Given the description of an element on the screen output the (x, y) to click on. 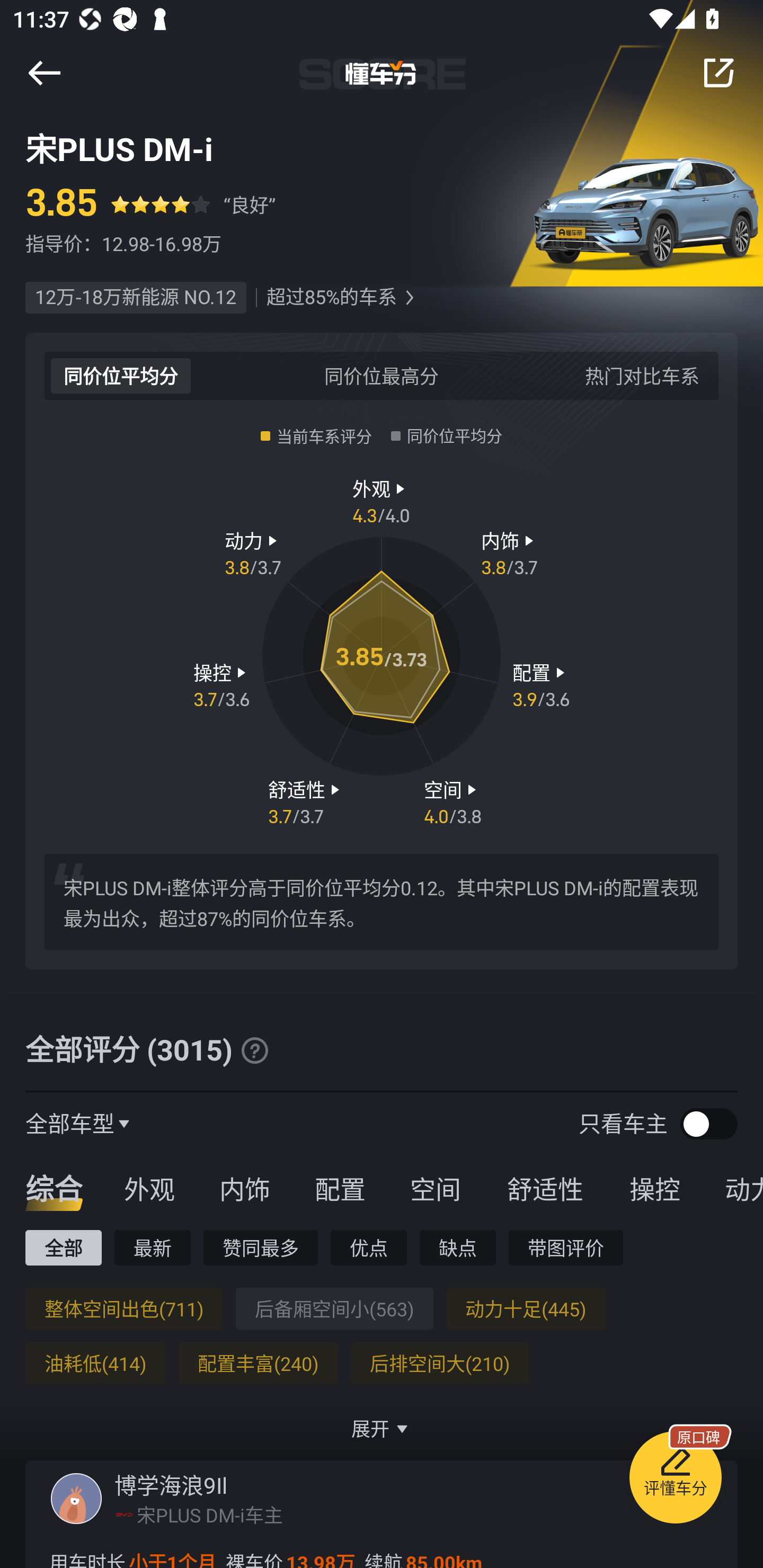
 (44, 72)
 (718, 72)
超过85%的车系 (331, 297)
 (408, 297)
同价位平均分 (120, 375)
同价位最高分 (381, 375)
热门对比车系 (641, 375)
外观  4.3 / 4.0 (381, 500)
动力  3.8 / 3.7 (252, 552)
内饰  3.8 / 3.7 (509, 552)
操控  3.7 / 3.6 (221, 685)
配置  3.9 / 3.6 (540, 685)
舒适性  3.7 / 3.7 (305, 801)
空间  4.0 / 3.8 (452, 801)
 (254, 1050)
全部车型 (69, 1123)
外观 (148, 1188)
内饰 (244, 1188)
配置 (339, 1188)
空间 (434, 1188)
舒适性 (544, 1188)
操控 (654, 1188)
全部 (63, 1247)
最新 (152, 1247)
赞同最多 (260, 1247)
优点 (368, 1247)
缺点 (457, 1247)
带图评价 (565, 1247)
整体空间出色(711) (123, 1308)
后备厢空间小(563) (334, 1308)
动力十足(445) (525, 1308)
油耗低(414) (95, 1363)
配置丰富(240) (258, 1363)
后排空间大(210) (439, 1363)
展开  (381, 1428)
 评懂车分 原口碑 (675, 1480)
博学海浪9Il (170, 1485)
宋PLUS DM-i车主 (209, 1514)
